Given the description of an element on the screen output the (x, y) to click on. 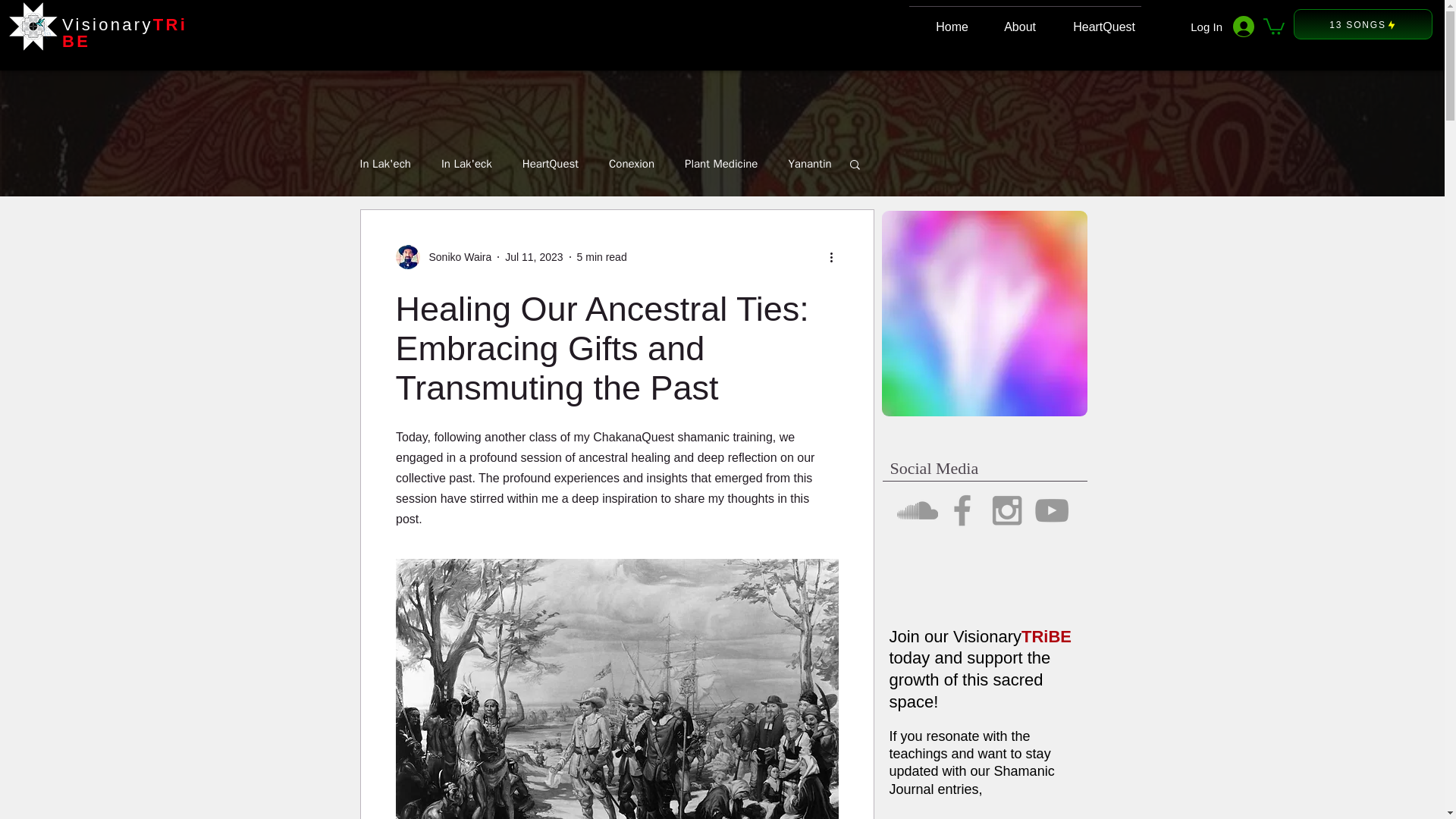
HeartQuest (550, 163)
Yanantin (809, 163)
Soniko Waira (456, 256)
5 min read (601, 256)
Soniko Waira (444, 256)
13 SONGS (1363, 24)
In Lak'eck (466, 163)
Jul 11, 2023 (533, 256)
In Lak'ech (384, 163)
Home (941, 20)
Conexion (630, 163)
Log In (1222, 26)
Plant Medicine (720, 163)
